Given the description of an element on the screen output the (x, y) to click on. 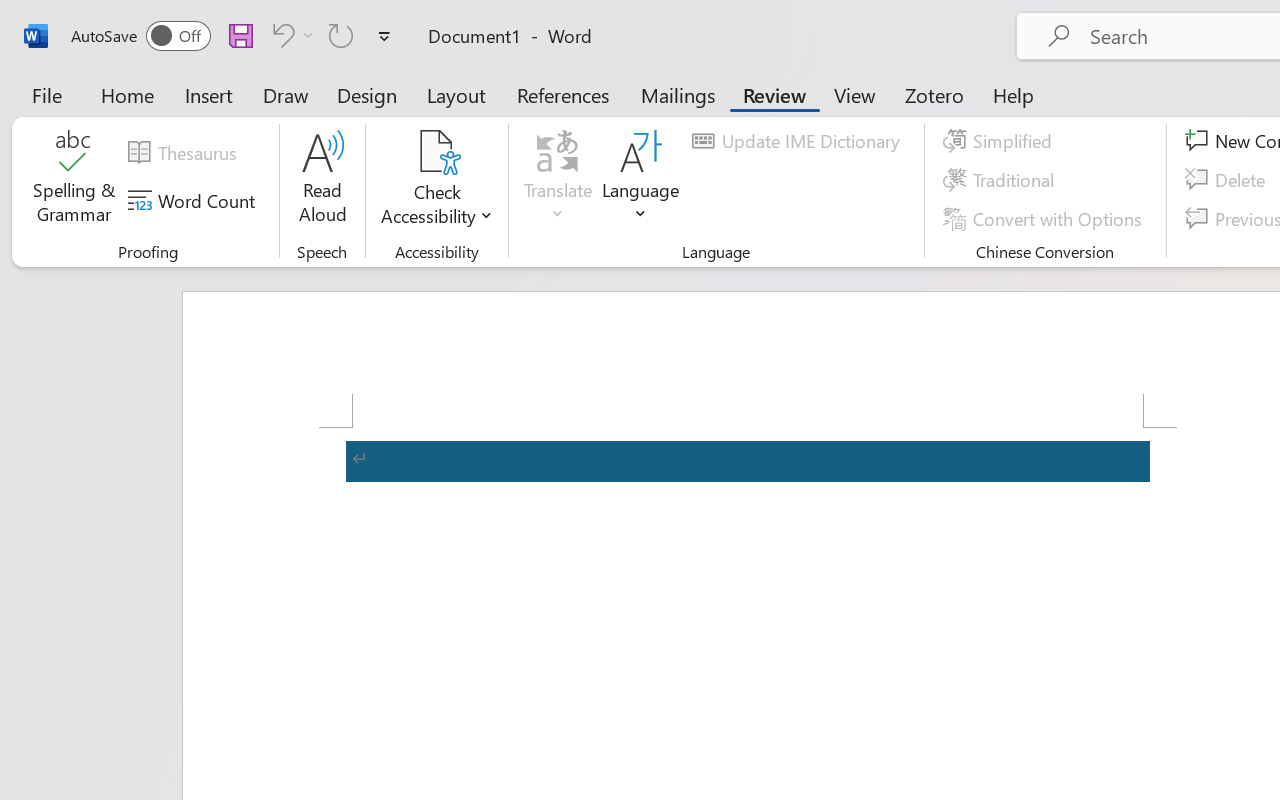
Simplified (1000, 141)
Convert with Options... (1045, 218)
Thesaurus... (185, 153)
Word Count (194, 201)
Repeat Accessibility Checker (341, 35)
Check Accessibility (436, 179)
Language (641, 179)
